Given the description of an element on the screen output the (x, y) to click on. 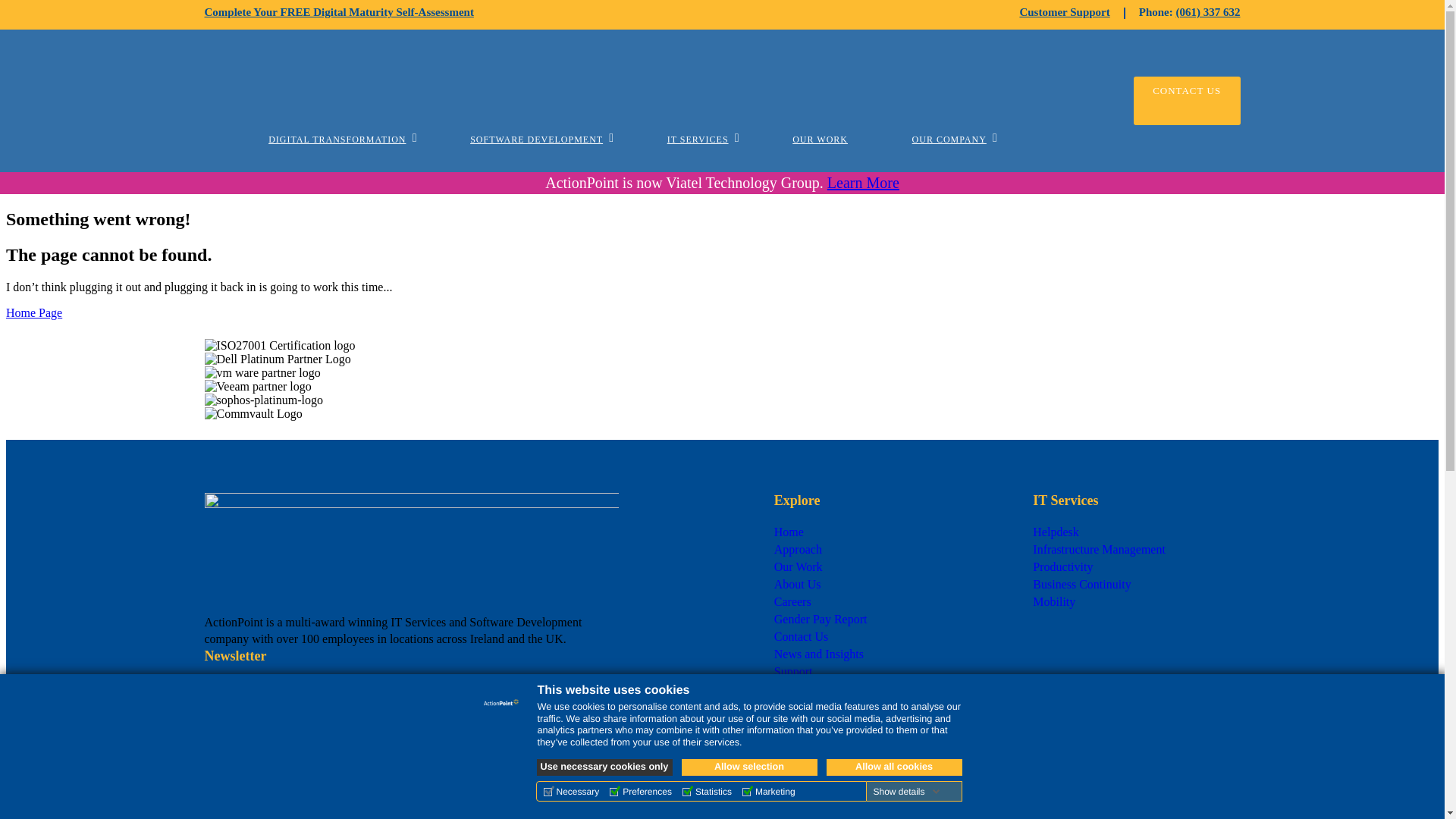
Show details (905, 791)
Use necessary cookies only (604, 767)
Allow selection (748, 767)
Allow all cookies (894, 767)
